Given the description of an element on the screen output the (x, y) to click on. 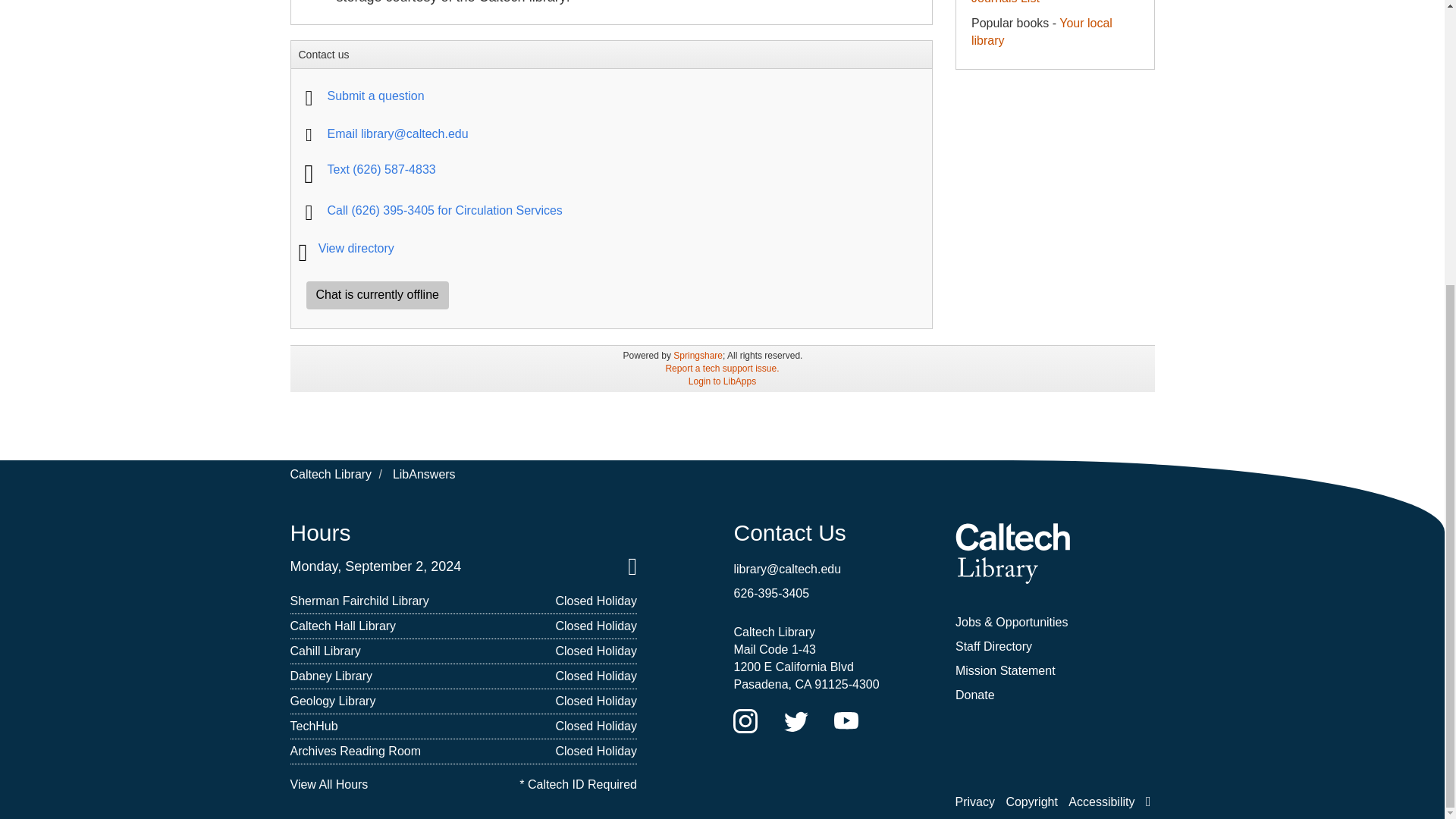
Instagram (745, 721)
Twitter (796, 721)
YouTube (846, 721)
California (802, 684)
